Given the description of an element on the screen output the (x, y) to click on. 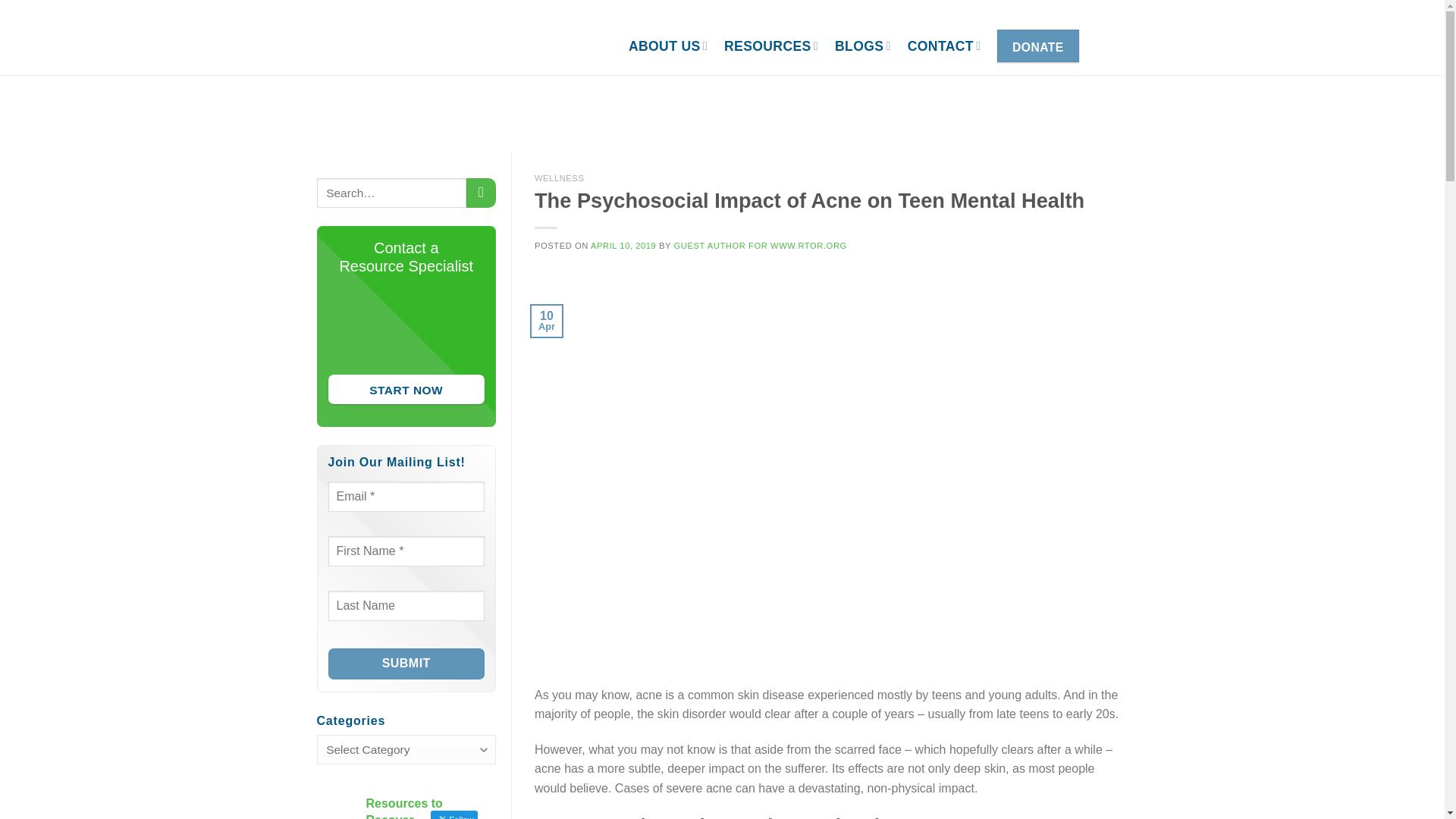
START NOW (405, 389)
Submit (405, 663)
RESOURCES (770, 45)
ABOUT US (667, 45)
BLOGS (862, 45)
DONATE (1037, 46)
Submit (405, 663)
CONTACT (944, 45)
Resources to Recover - Gateway to Mental Health Services (444, 45)
